Given the description of an element on the screen output the (x, y) to click on. 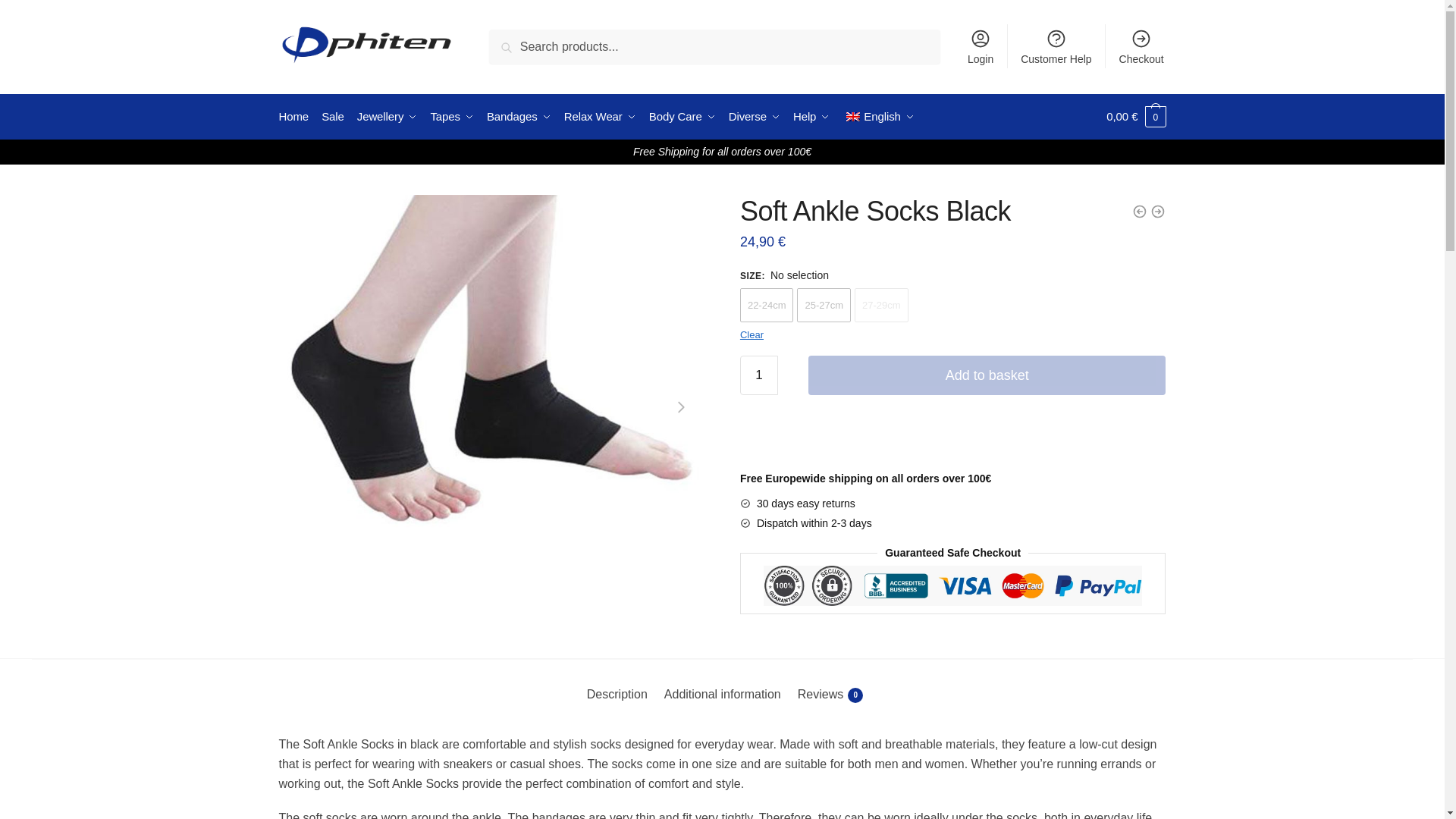
Tapes (451, 116)
Checkout (1141, 45)
Jewellery (386, 116)
1 (758, 374)
Bandages (518, 116)
English (852, 116)
Login (980, 45)
Relax Wear (599, 116)
Customer Help (1055, 45)
Search (513, 39)
